Given the description of an element on the screen output the (x, y) to click on. 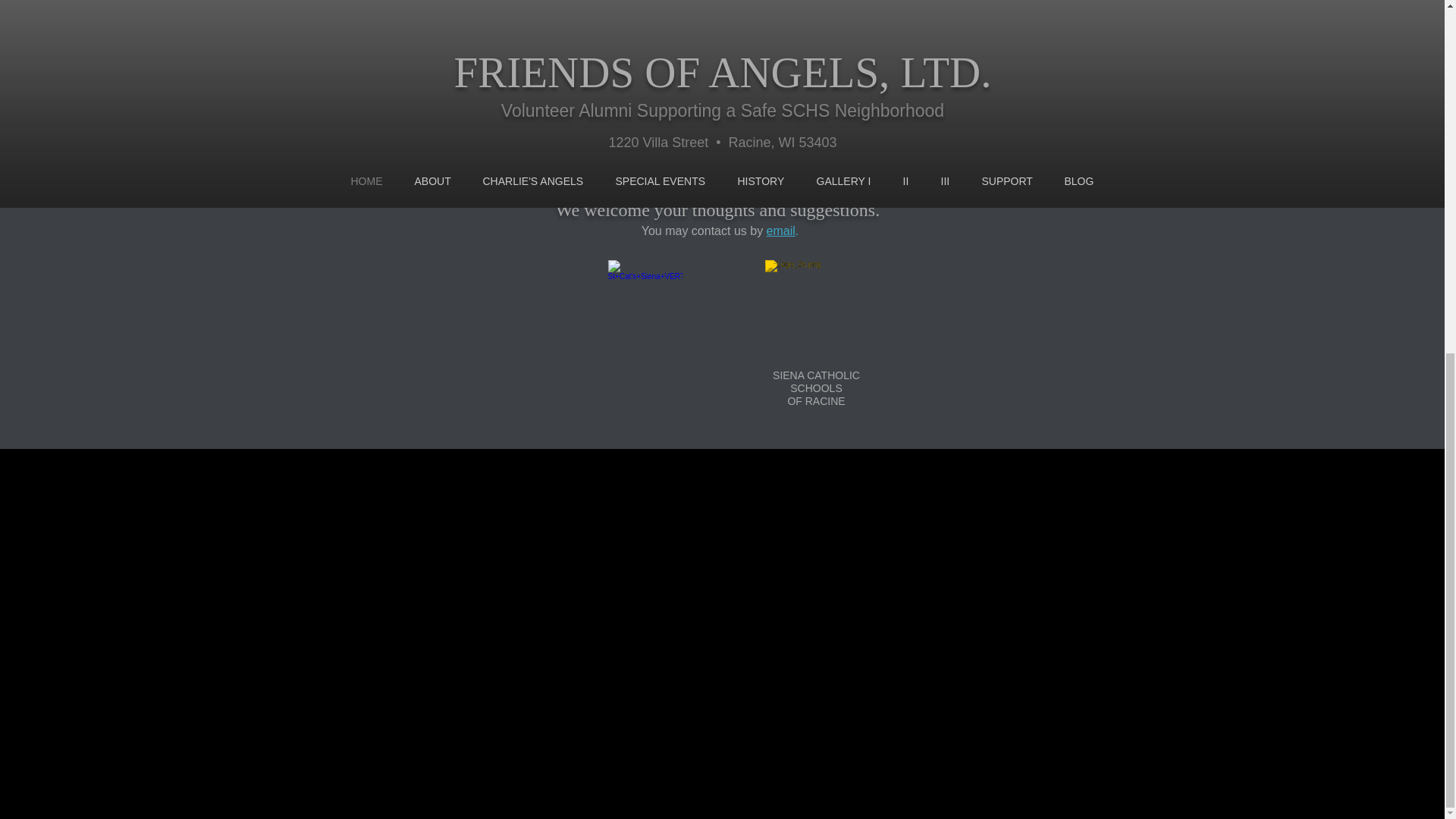
email (780, 230)
Charlie's Angels (695, 114)
story (704, 87)
renovation (621, 114)
